Given the description of an element on the screen output the (x, y) to click on. 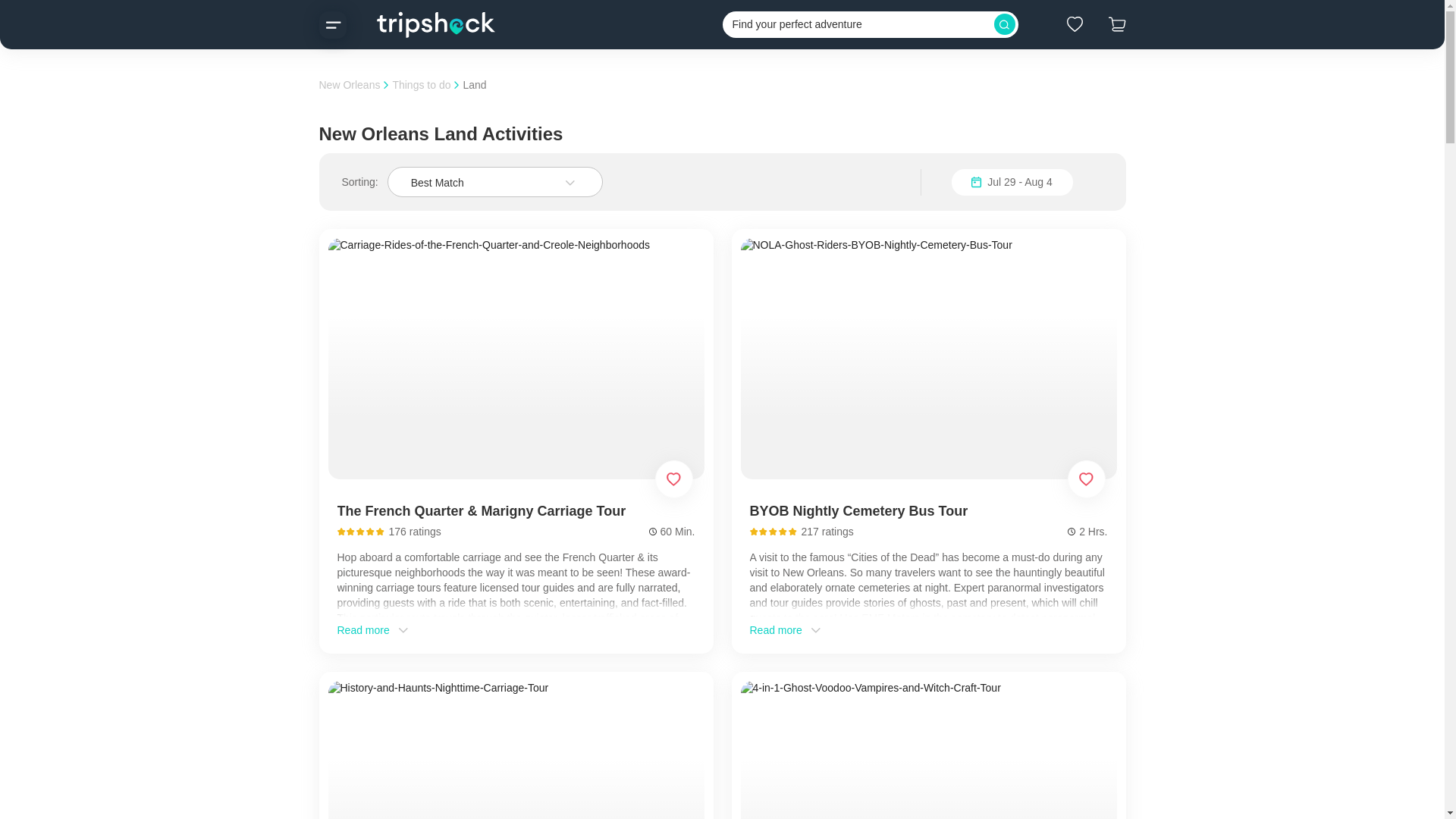
New Orleans (349, 84)
Things to do (420, 84)
